Given the description of an element on the screen output the (x, y) to click on. 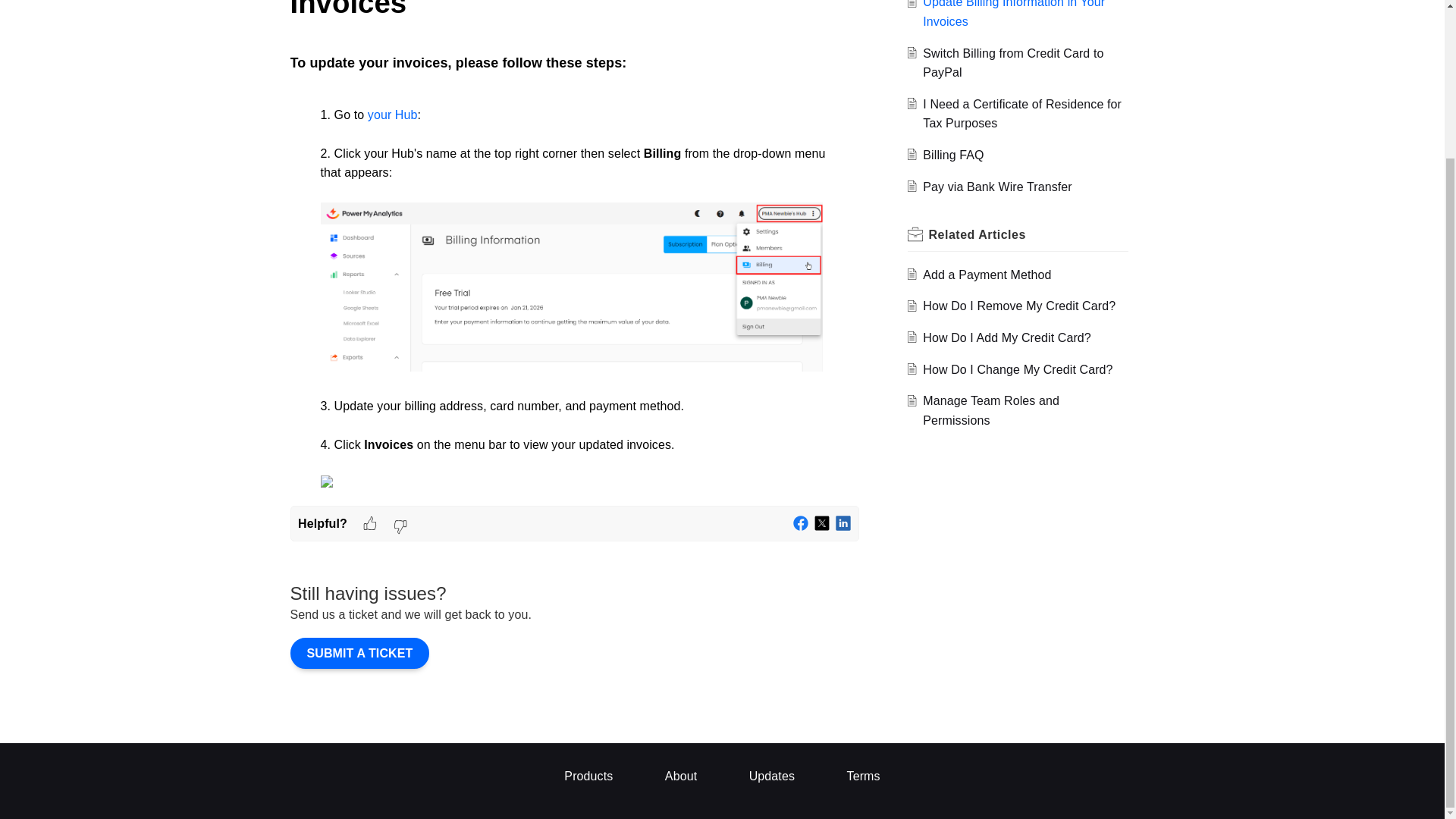
Add a Payment Method (987, 274)
I Need a Certificate of Residence for Tax Purposes (1022, 113)
How Do I Add My Credit Card? (1006, 337)
SUBMIT A TICKET (359, 653)
Switch Billing from Credit Card to PayPal (1013, 62)
Billing FAQ (953, 154)
your Hub (392, 114)
Facebook (800, 522)
Pay via Bank Wire Transfer (997, 186)
Updates (771, 775)
